Given the description of an element on the screen output the (x, y) to click on. 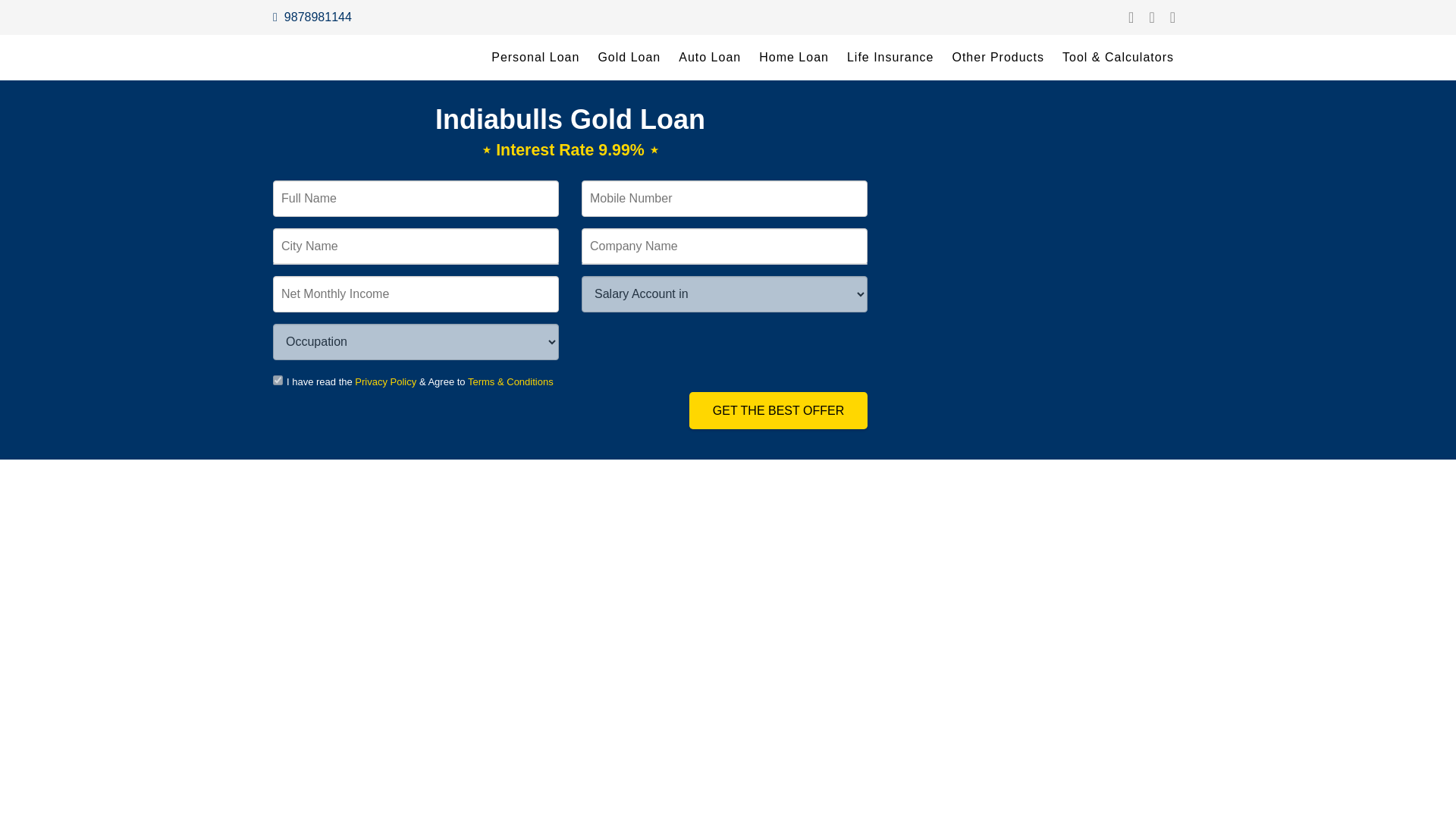
Personal Loan (534, 57)
Life Insurance (890, 57)
Privacy Policy (385, 381)
Other Products (997, 57)
on (277, 379)
9878981144 (312, 17)
Gold Loan (628, 57)
Auto Loan (709, 57)
GET THE BEST OFFER (777, 410)
Home Loan (793, 57)
